Given the description of an element on the screen output the (x, y) to click on. 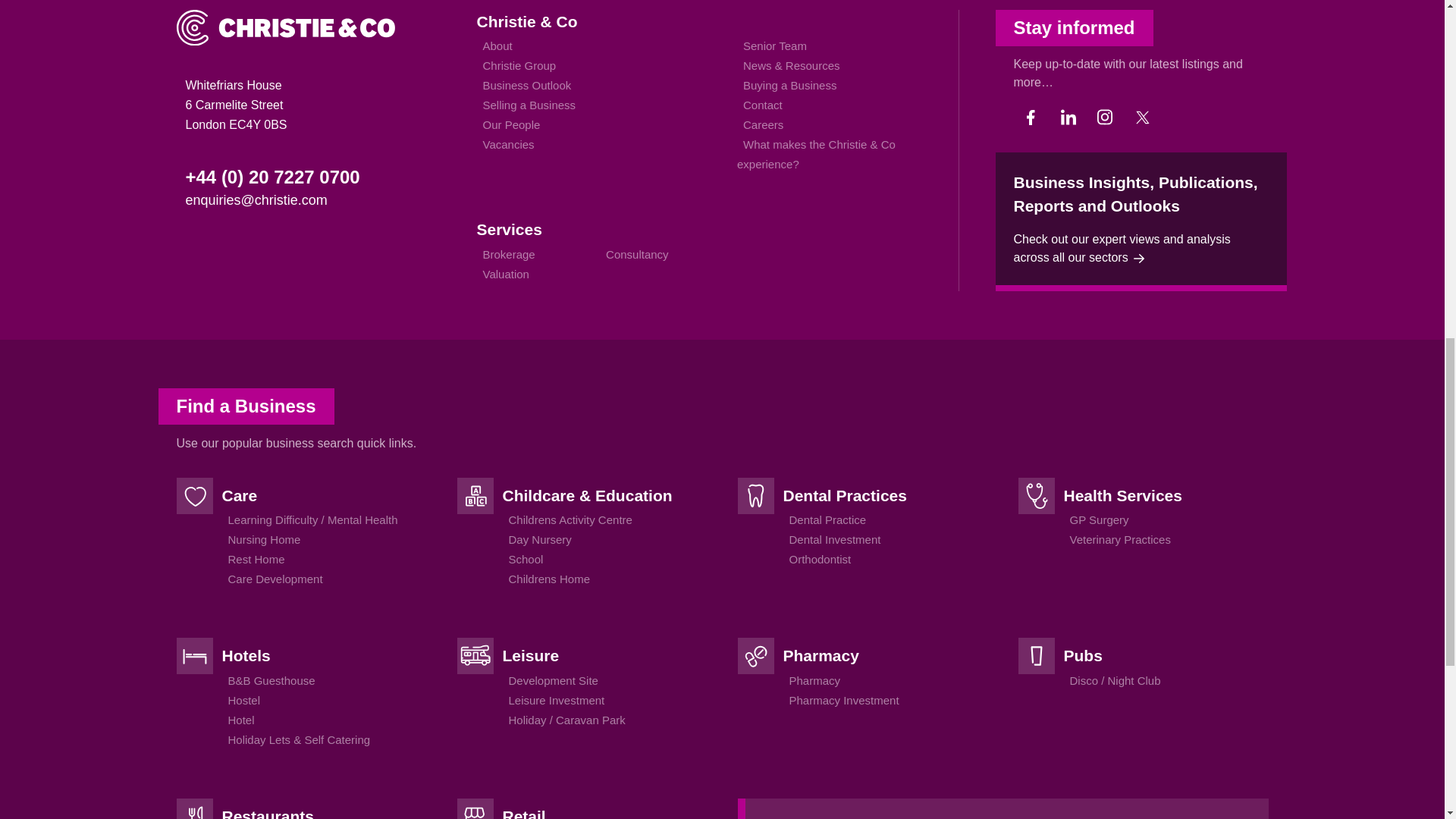
Careers (762, 124)
Consultancy (637, 253)
Contact (762, 104)
Brokerage (508, 253)
Valuation (505, 273)
Senior Team (774, 45)
Business Outlook (526, 85)
